Given the description of an element on the screen output the (x, y) to click on. 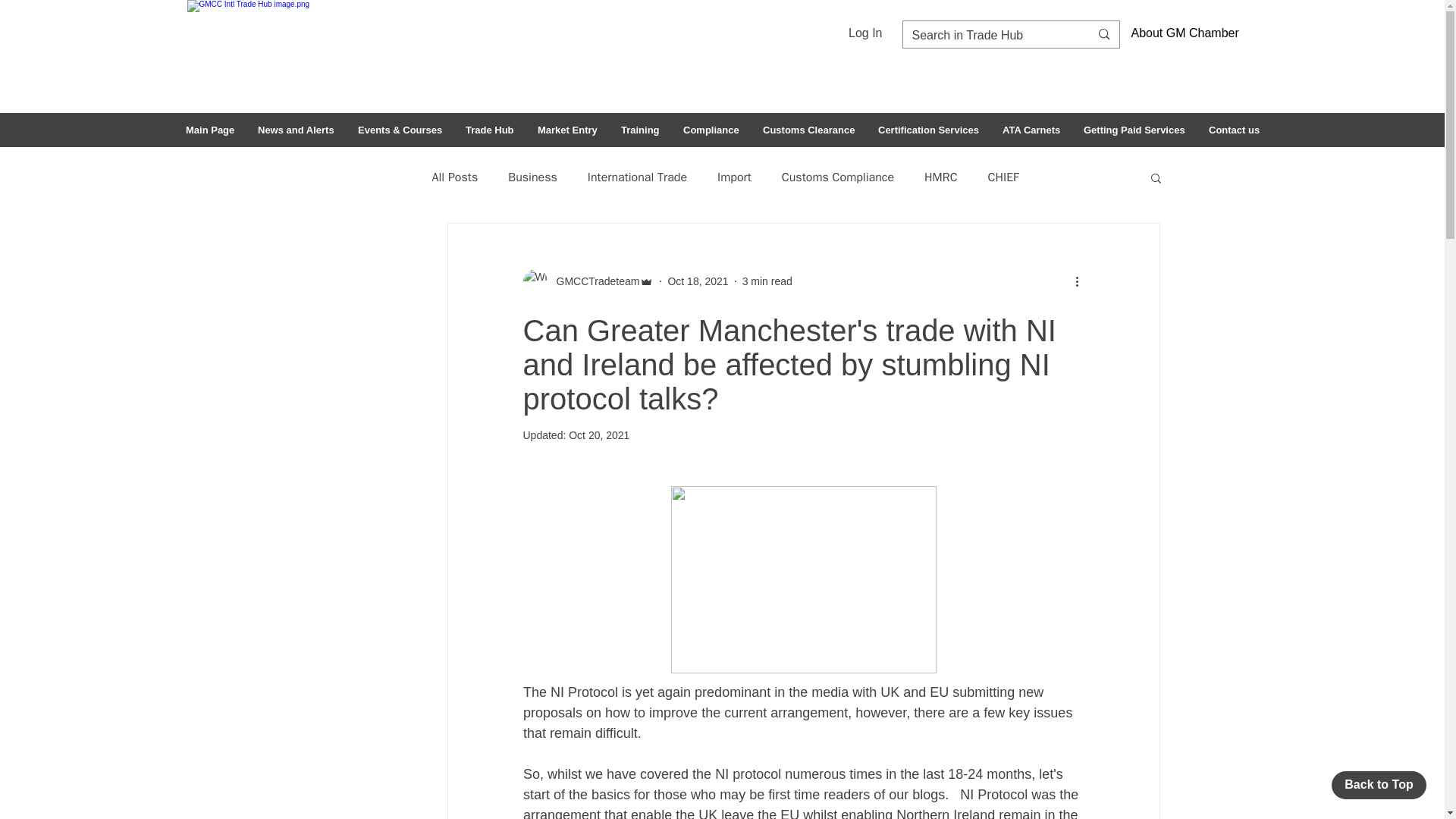
ATA Carnets (1030, 130)
Log In (865, 32)
3 min read (767, 280)
Main Page (209, 130)
Oct 18, 2021 (697, 280)
Training (639, 130)
Trade Hub (488, 130)
HMRC (940, 177)
Market Entry (566, 130)
Import (734, 177)
